Given the description of an element on the screen output the (x, y) to click on. 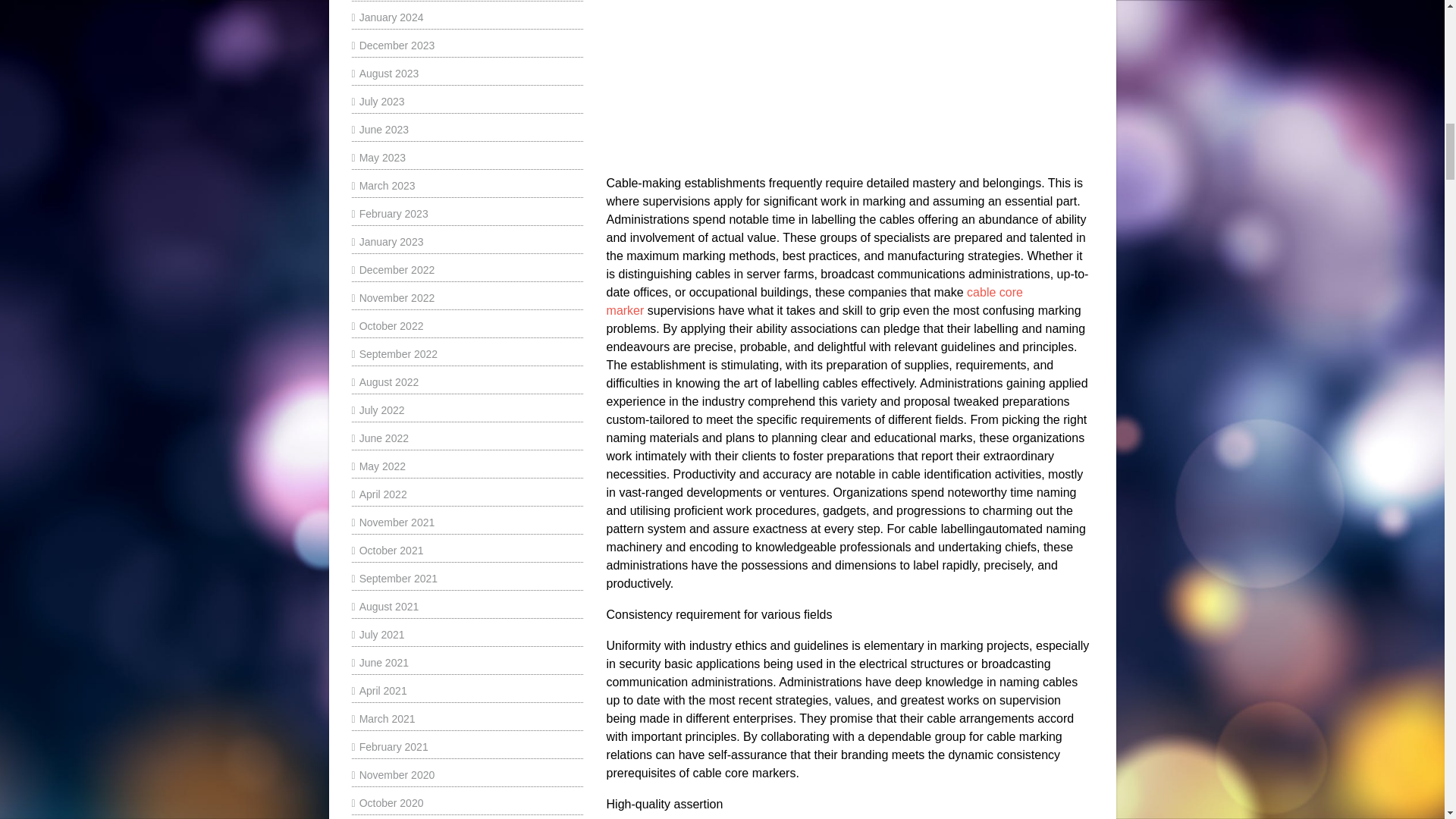
cable core marker (815, 300)
cable core marker (815, 300)
cable core marker (849, 80)
